Given the description of an element on the screen output the (x, y) to click on. 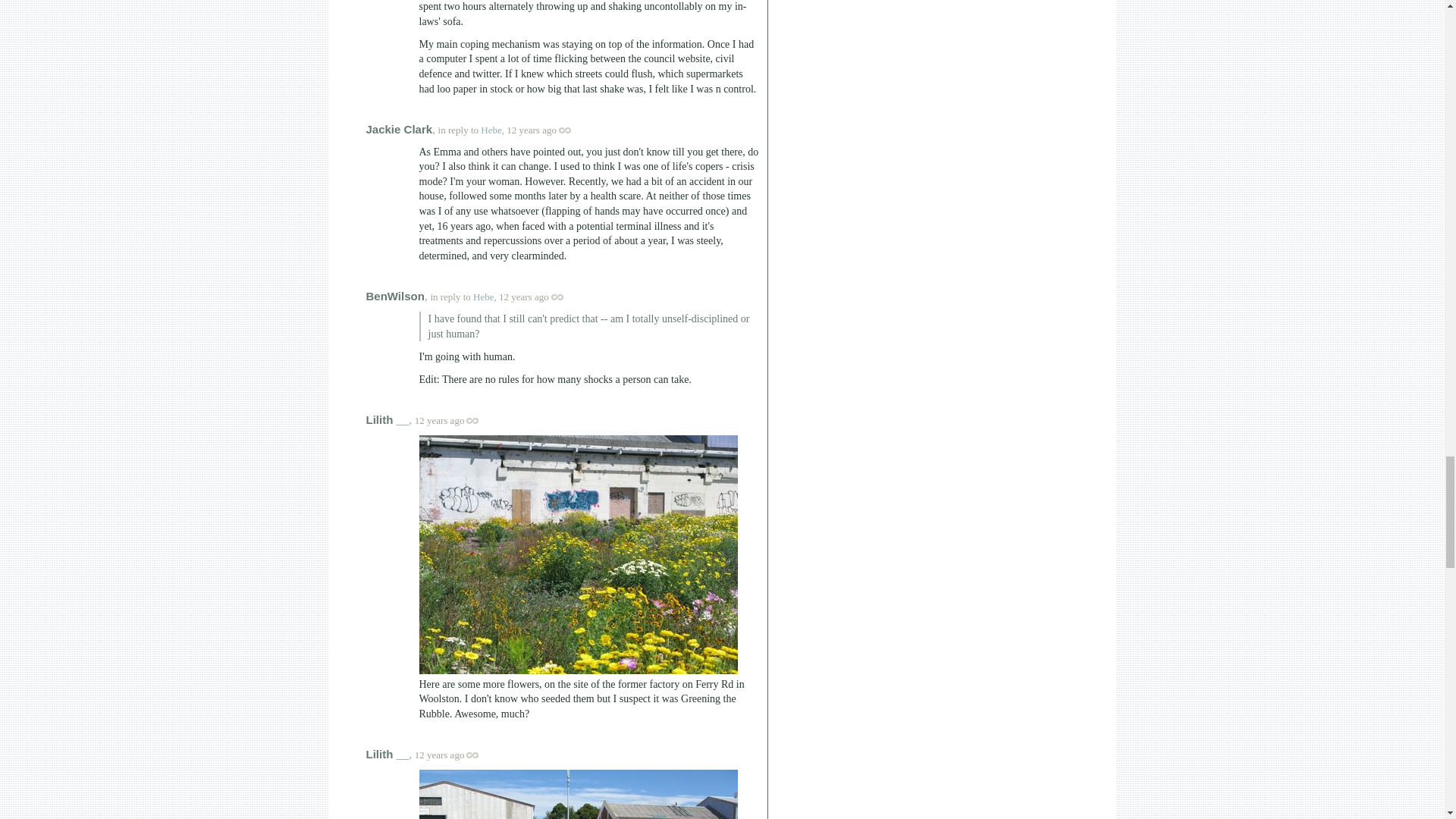
16:43 Feb 23, 2012 (523, 296)
18:36 Feb 23, 2012 (439, 419)
16:06 Feb 23, 2012 (531, 129)
